Given the description of an element on the screen output the (x, y) to click on. 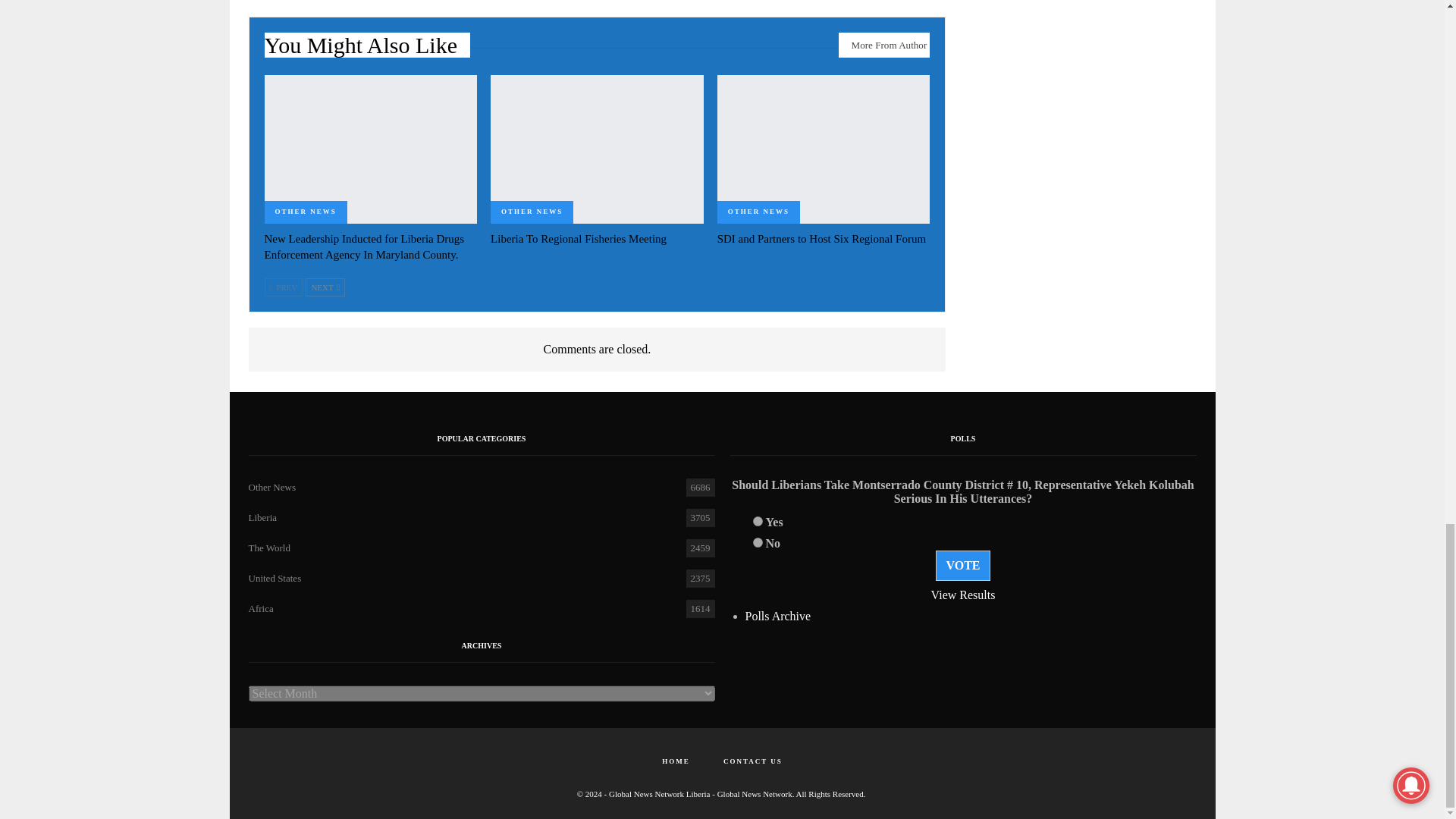
377 (756, 542)
OTHER NEWS (304, 211)
Previous (282, 287)
More From Author (884, 44)
Liberia To Regional Fisheries Meeting (596, 149)
Liberia To Regional Fisheries Meeting (578, 238)
SDI and Partners to Host Six Regional Forum (821, 238)
SDI and Partners to Host Six Regional Forum (823, 149)
